Given the description of an element on the screen output the (x, y) to click on. 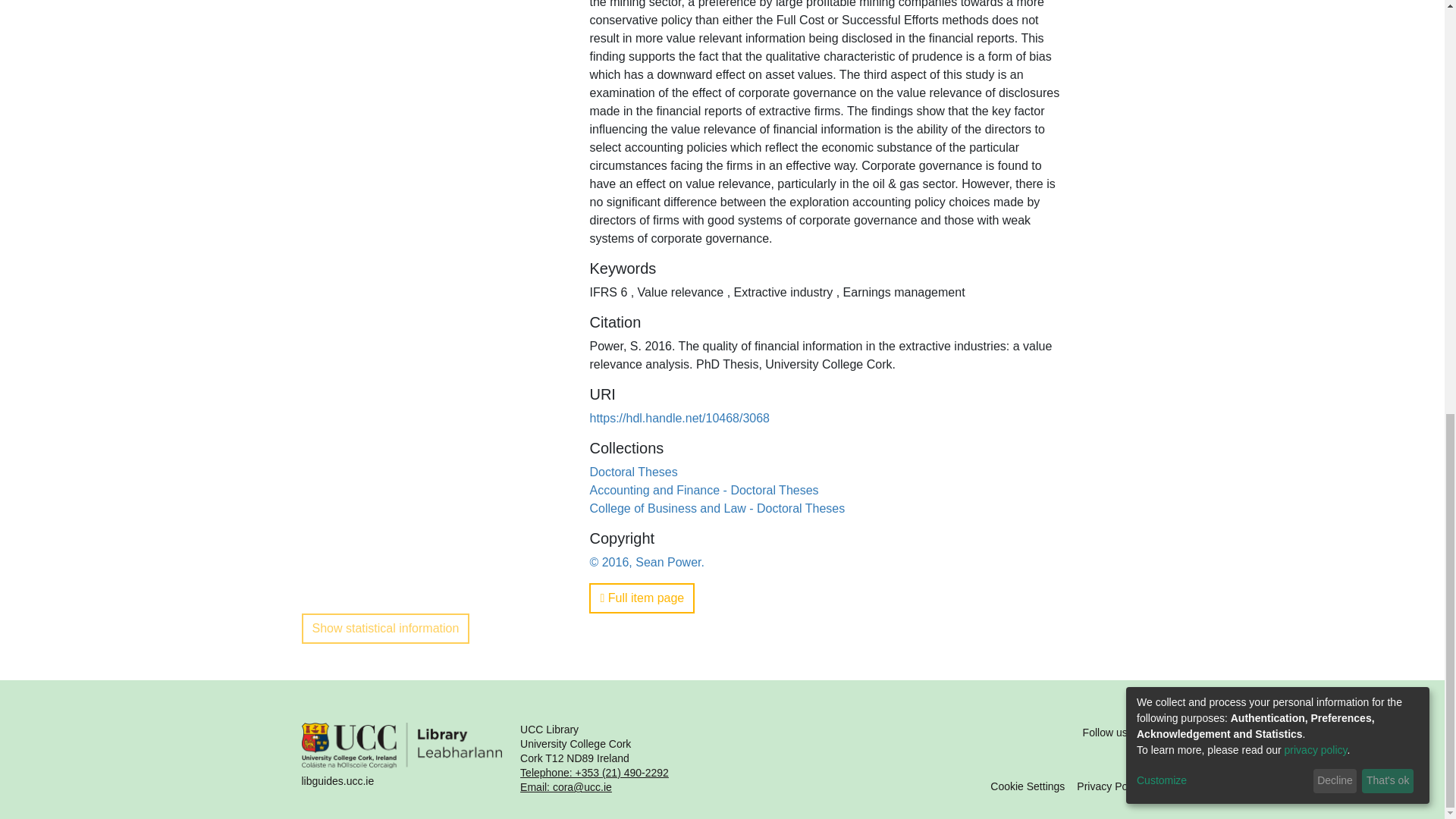
Full item page (641, 598)
Cookie Settings (1027, 786)
College of Business and Law - Doctoral Theses (716, 508)
Privacy Policy (1109, 786)
libguides.ucc.ie (401, 758)
Show statistical information (385, 628)
Doctoral Theses (633, 472)
Accounting and Finance - Doctoral Theses (703, 490)
